Given the description of an element on the screen output the (x, y) to click on. 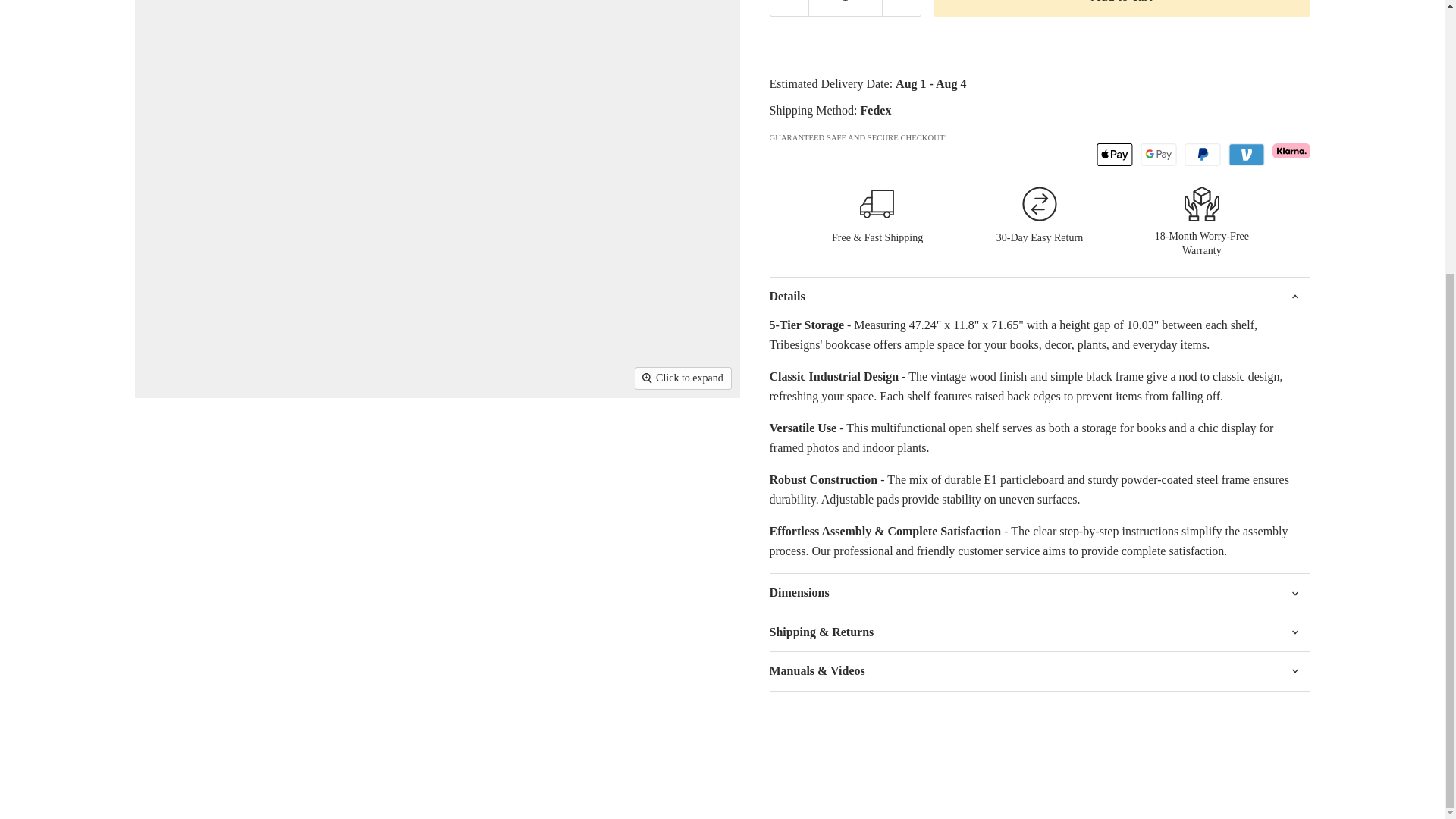
PayPal (1203, 154)
Venmo (1246, 154)
1 (845, 8)
Google Pay (1158, 154)
Apple Pay (1114, 154)
